Given the description of an element on the screen output the (x, y) to click on. 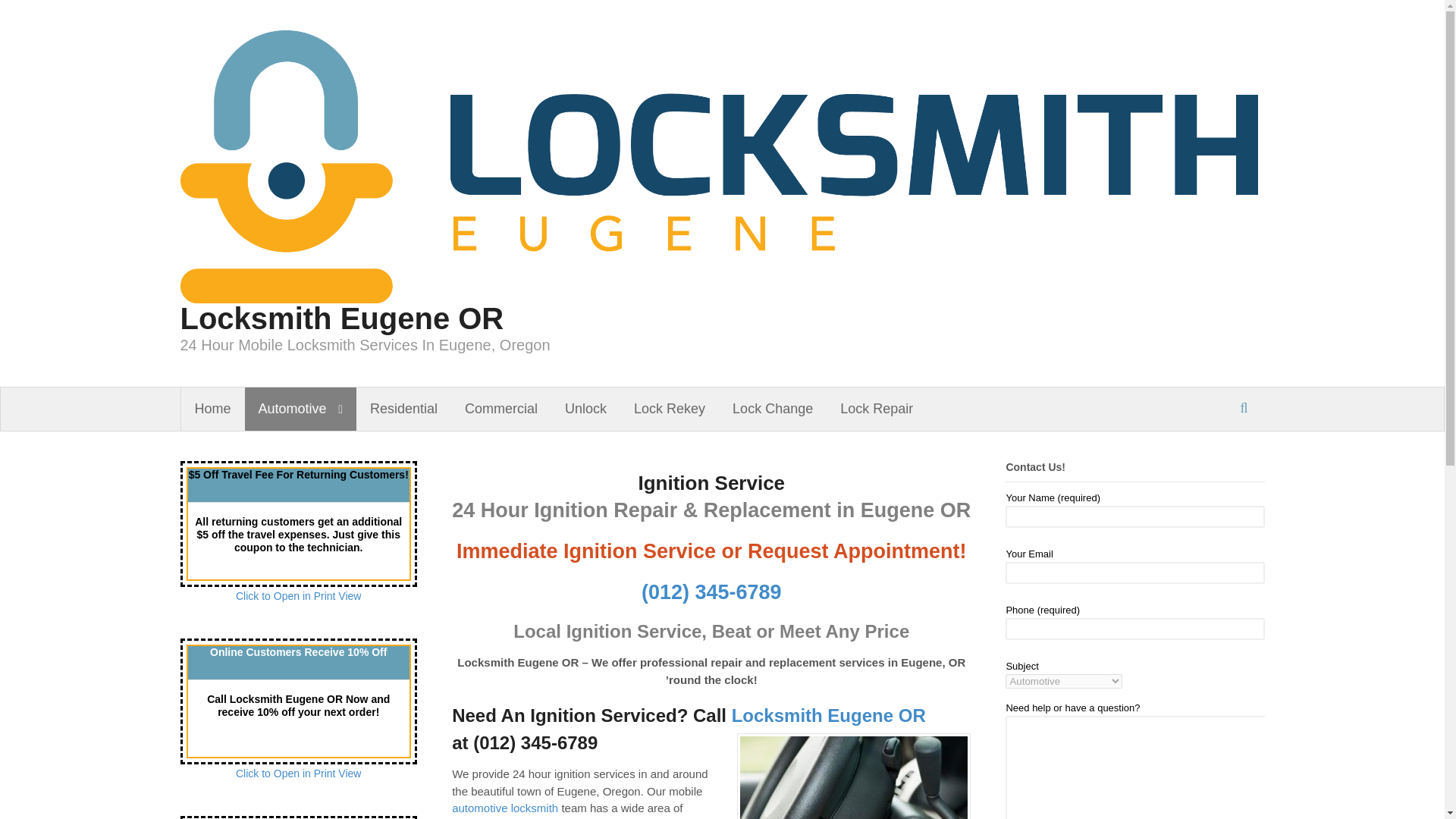
automotive locksmith (504, 807)
Lock Repair (876, 408)
Unlock (585, 408)
Automotive (300, 408)
Locksmith Eugene OR (829, 715)
Commercial (501, 408)
Home (212, 408)
Locksmith Eugene OR (341, 318)
Lock Rekey (669, 408)
Residential (403, 408)
Click to Open in Print View (298, 595)
Lock Change (773, 408)
Search (1248, 450)
Click to Open in Print View (298, 773)
